Given the description of an element on the screen output the (x, y) to click on. 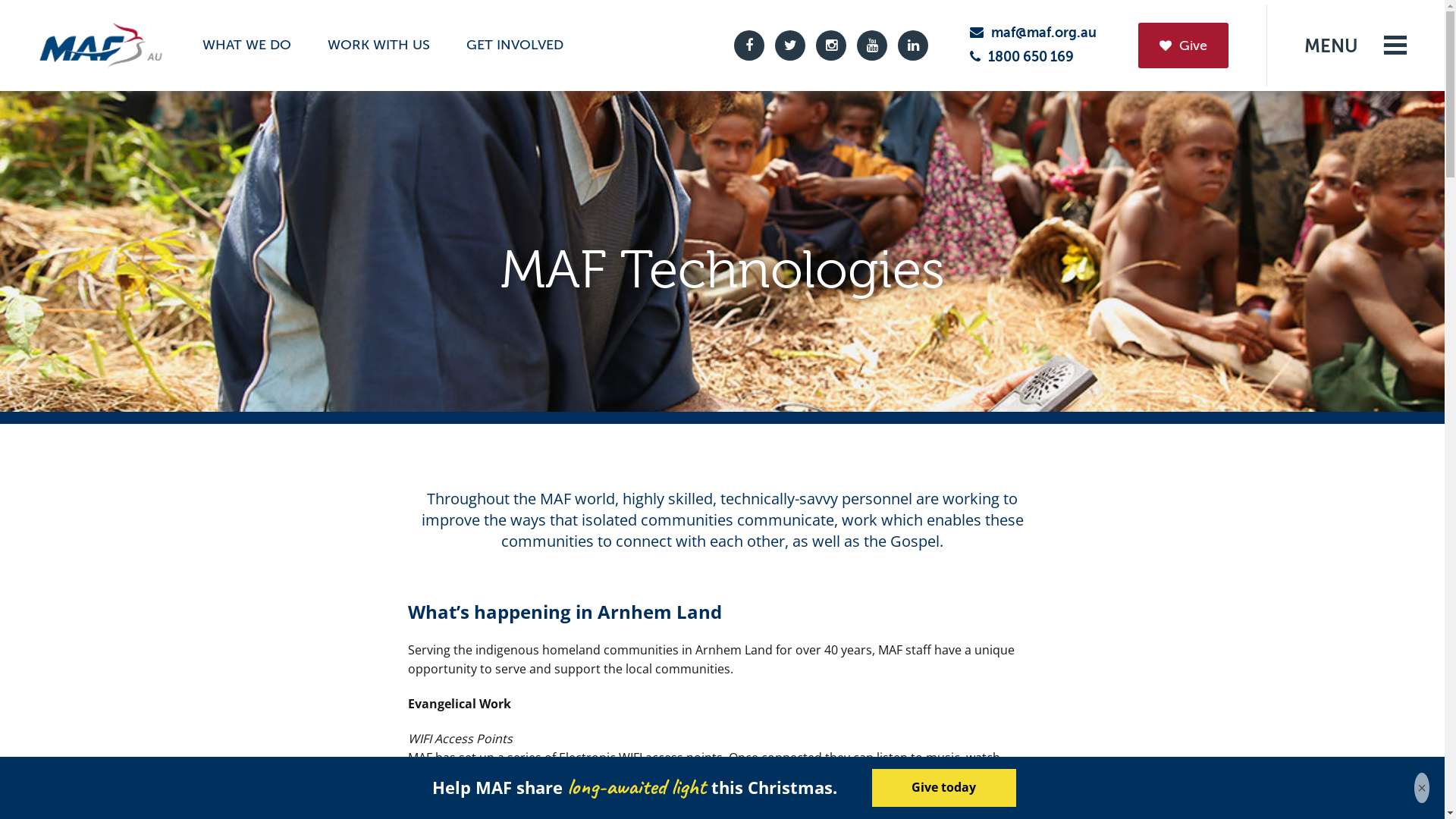
WORK WITH US Element type: text (378, 44)
maf@maf.org.au Element type: text (1032, 32)
WHAT WE DO Element type: text (246, 44)
GET INVOLVED Element type: text (514, 44)
MENU Element type: text (1355, 44)
1800 650 169 Element type: text (1021, 56)
Give Element type: text (1183, 45)
